Given the description of an element on the screen output the (x, y) to click on. 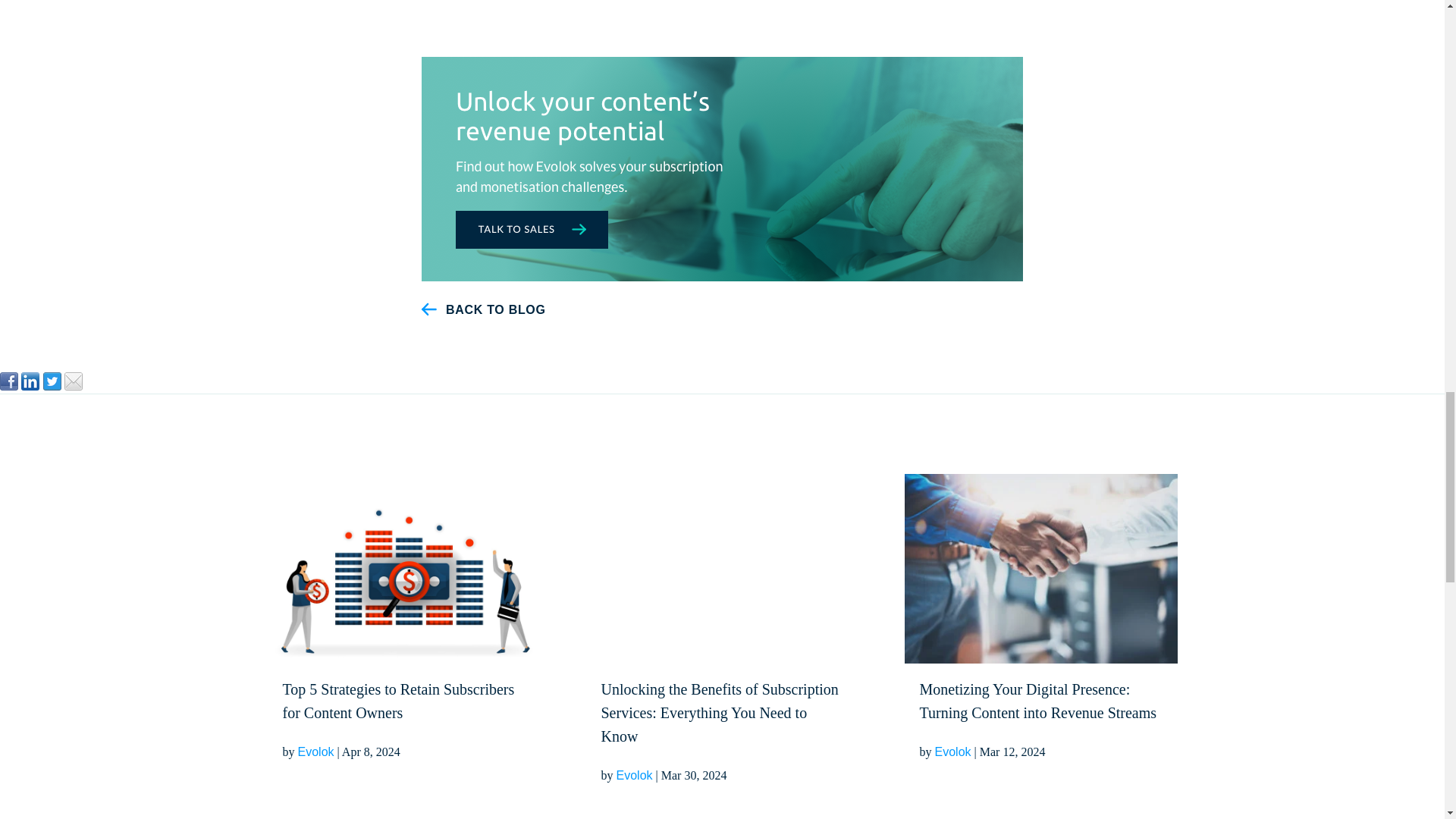
Evolok (633, 775)
BACK TO BLOG (495, 309)
Top 5 Strategies to Retain Subscribers for Content Owners (403, 709)
Evolok (952, 751)
Evolok (315, 751)
